Given the description of an element on the screen output the (x, y) to click on. 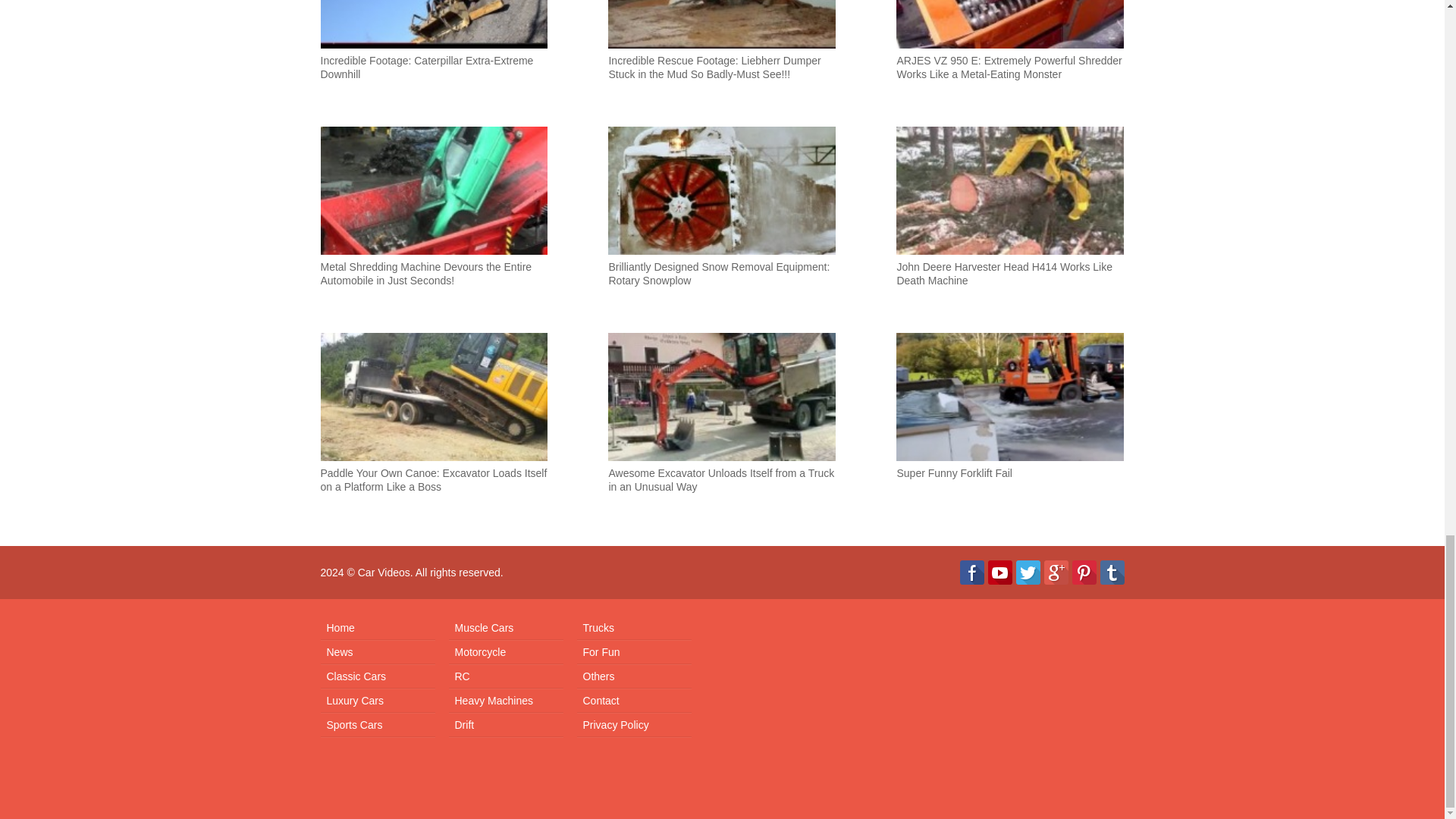
John Deere Harvester Head H414 Works Like Death Machine (1010, 224)
Super Funny Forklift Fail (1010, 430)
Incredible Footage: Caterpillar Extra-Extreme Downhill (433, 58)
Brilliantly Designed Snow Removal Equipment: Rotary Snowplow (721, 224)
